Given the description of an element on the screen output the (x, y) to click on. 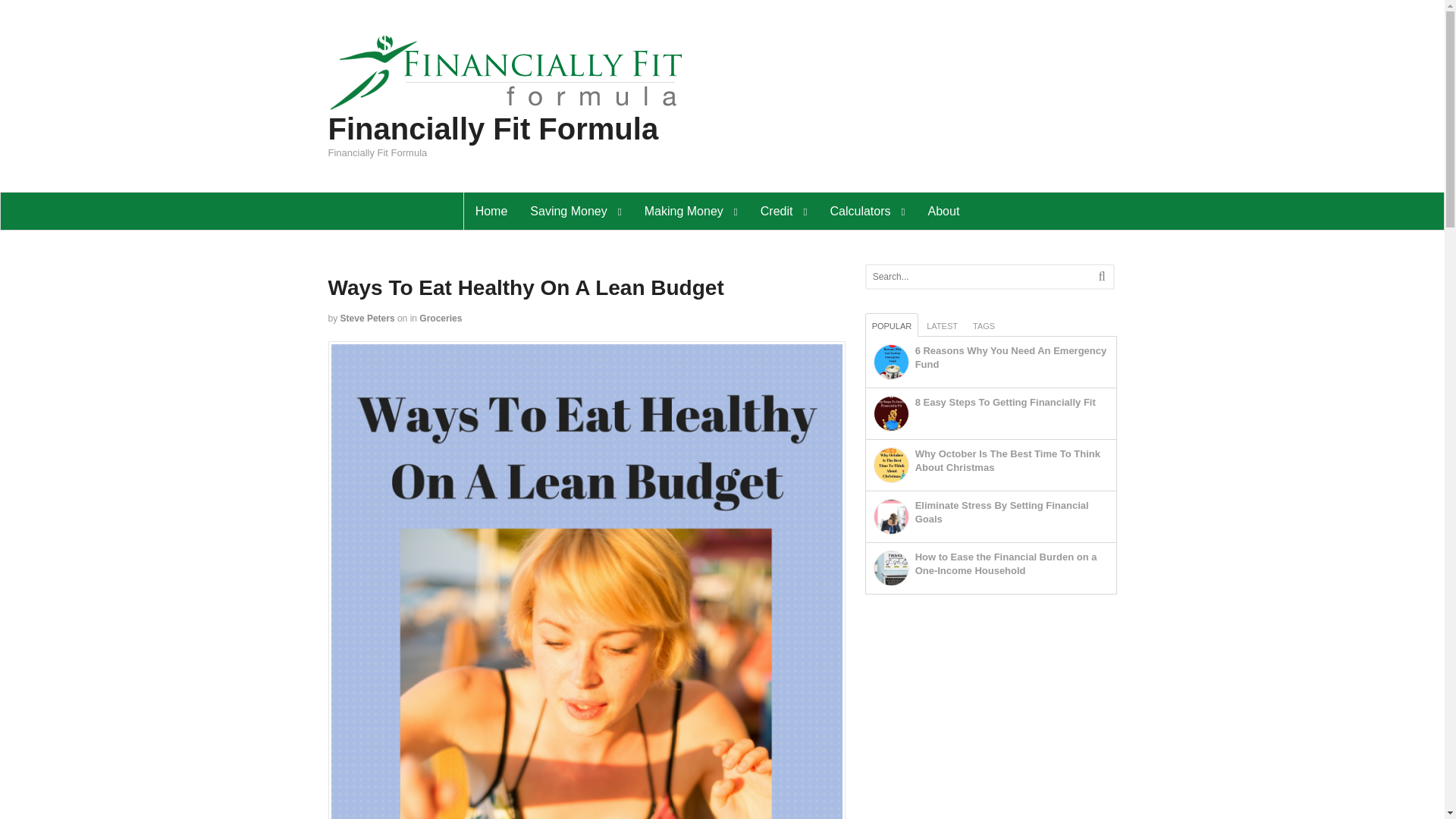
Steve Peters (367, 317)
Financially Fit Formula (492, 128)
About (944, 211)
Saving Money (574, 211)
Making Money (691, 211)
Financially Fit Formula (509, 105)
Search... (976, 276)
View all items in Groceries (440, 317)
Calculators (867, 211)
Posts by Steve Peters (367, 317)
Home (491, 211)
Credit (783, 211)
